Given the description of an element on the screen output the (x, y) to click on. 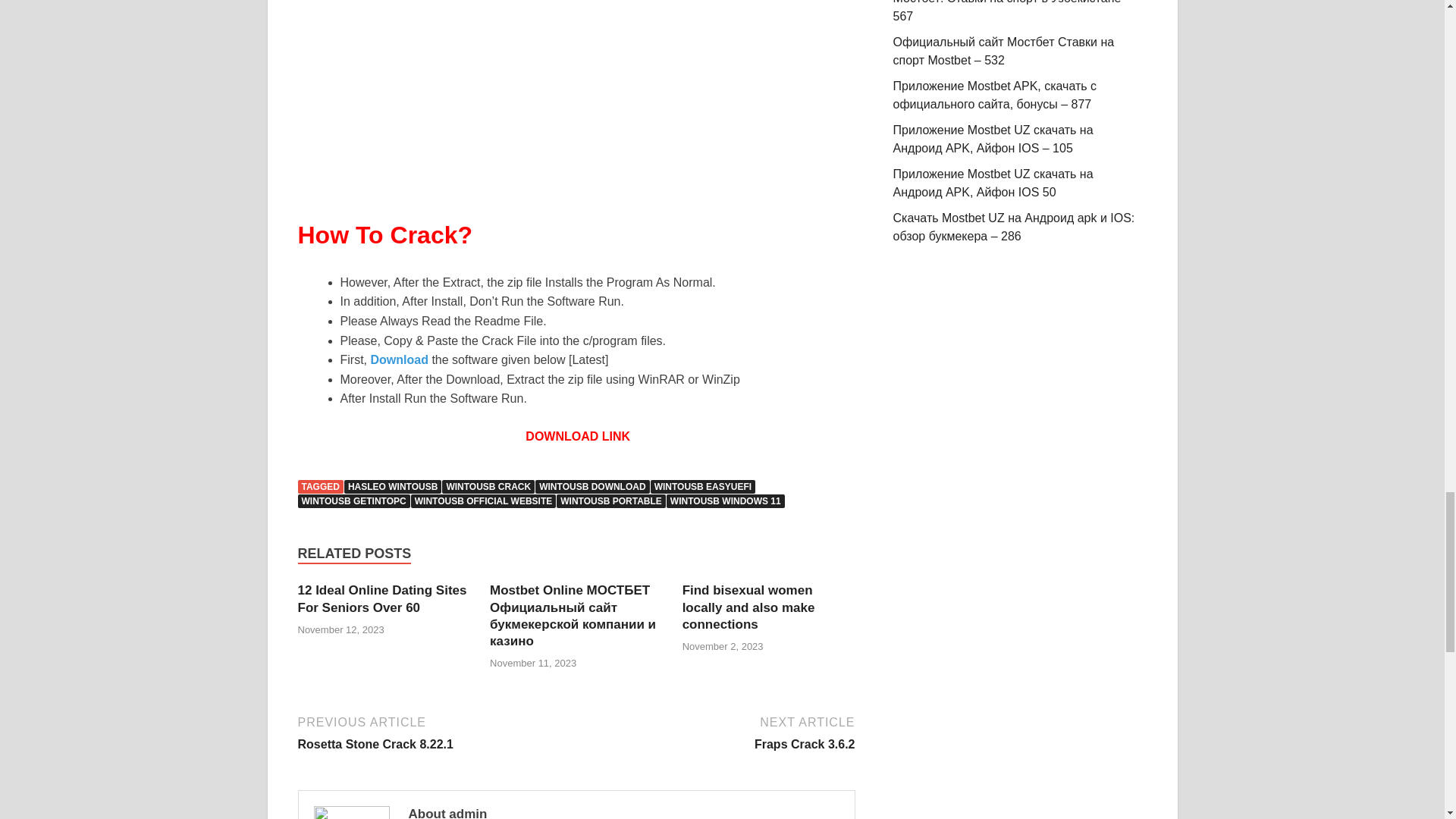
12 Ideal Online Dating Sites For Seniors Over 60 (381, 598)
12 Ideal Online Dating Sites For Seniors Over 60 (381, 598)
WINTOUSB WINDOWS 11 (725, 500)
WINTOUSB OFFICIAL WEBSITE (483, 500)
WINTOUSB GETINTOPC (353, 500)
Wing FTP Server (575, 95)
Download (398, 359)
WINTOUSB CRACK (488, 486)
WINTOUSB EASYUEFI (702, 486)
Find bisexual women locally and also make connections (748, 606)
 DOWNLOAD LINK (576, 436)
WINTOUSB DOWNLOAD (592, 486)
HASLEO WINTOUSB (392, 486)
WINTOUSB PORTABLE (610, 500)
